Given the description of an element on the screen output the (x, y) to click on. 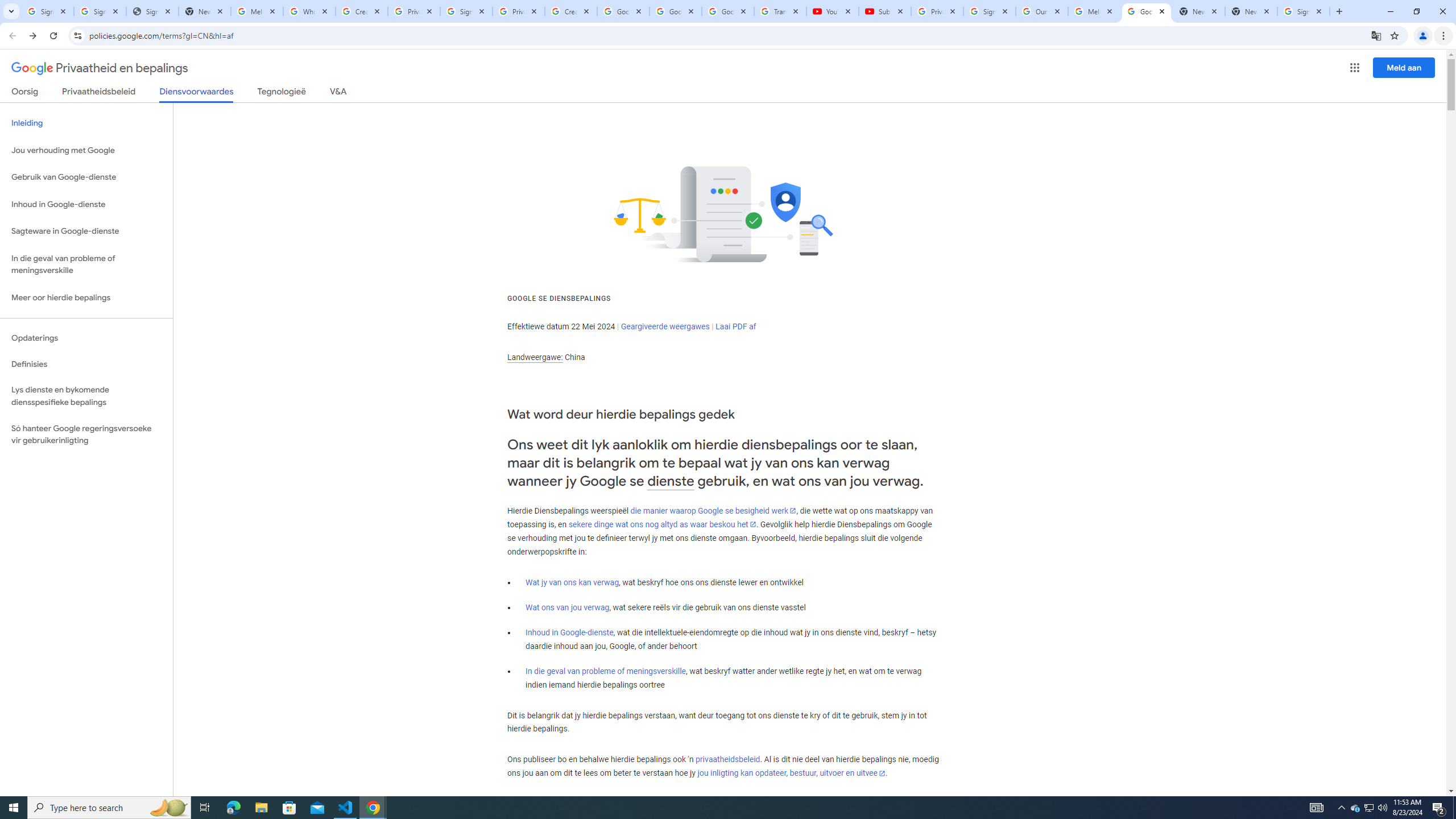
Gebruik van Google-dienste (86, 176)
V&A (337, 93)
Laai PDF af (735, 326)
jou inligting kan opdateer, bestuur, uitvoer en uitvee (791, 773)
Who is my administrator? - Google Account Help (309, 11)
die manier waarop Google se besigheid werk (713, 510)
Sagteware in Google-dienste (86, 230)
